Given the description of an element on the screen output the (x, y) to click on. 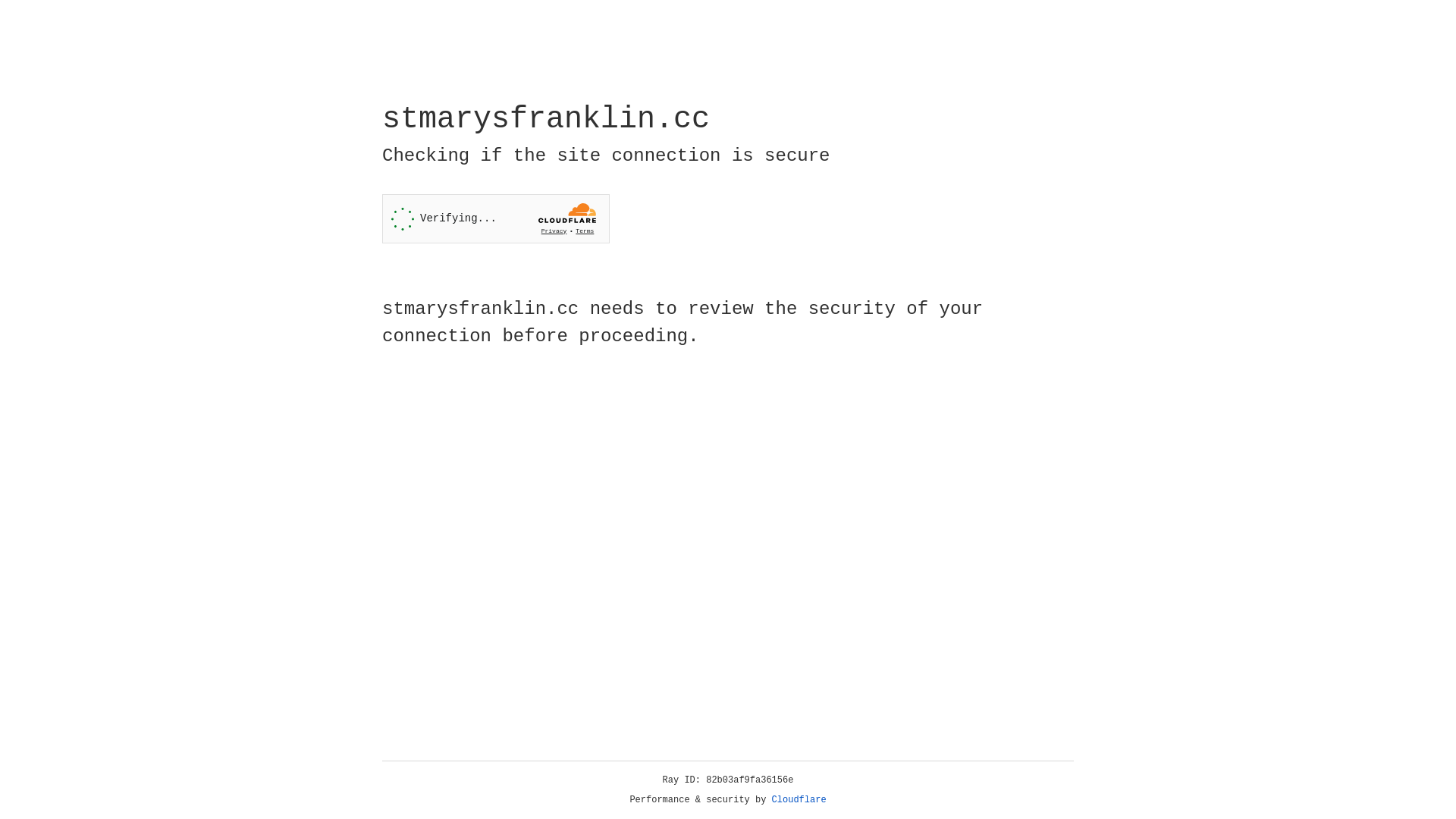
Cloudflare Element type: text (798, 799)
Widget containing a Cloudflare security challenge Element type: hover (495, 218)
